Given the description of an element on the screen output the (x, y) to click on. 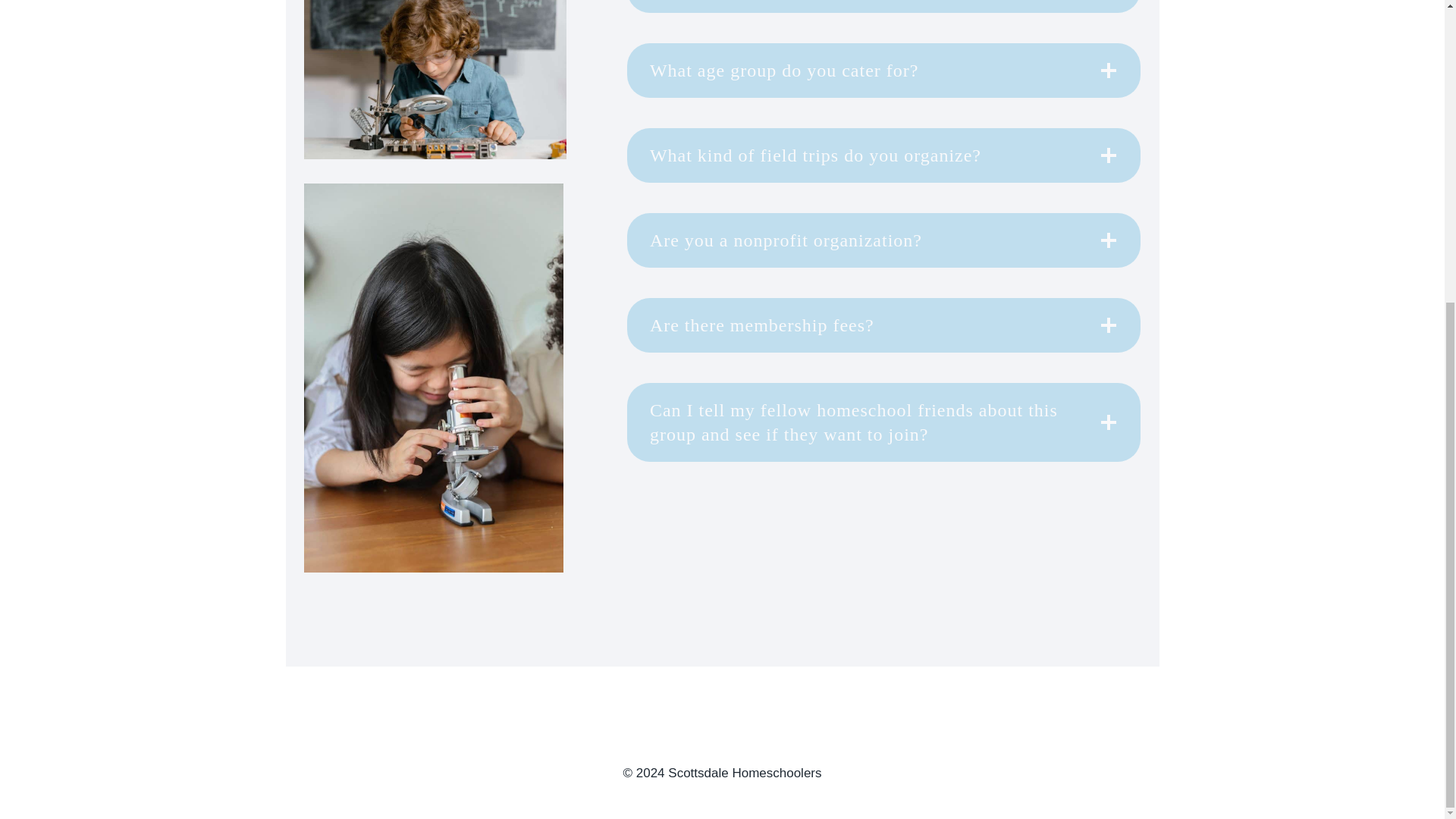
Are you a secular group? (884, 6)
Are you a nonprofit organization? (884, 239)
Are there membership fees? (884, 325)
What kind of field trips do you organize? (884, 154)
What age group do you cater for? (884, 70)
